Given the description of an element on the screen output the (x, y) to click on. 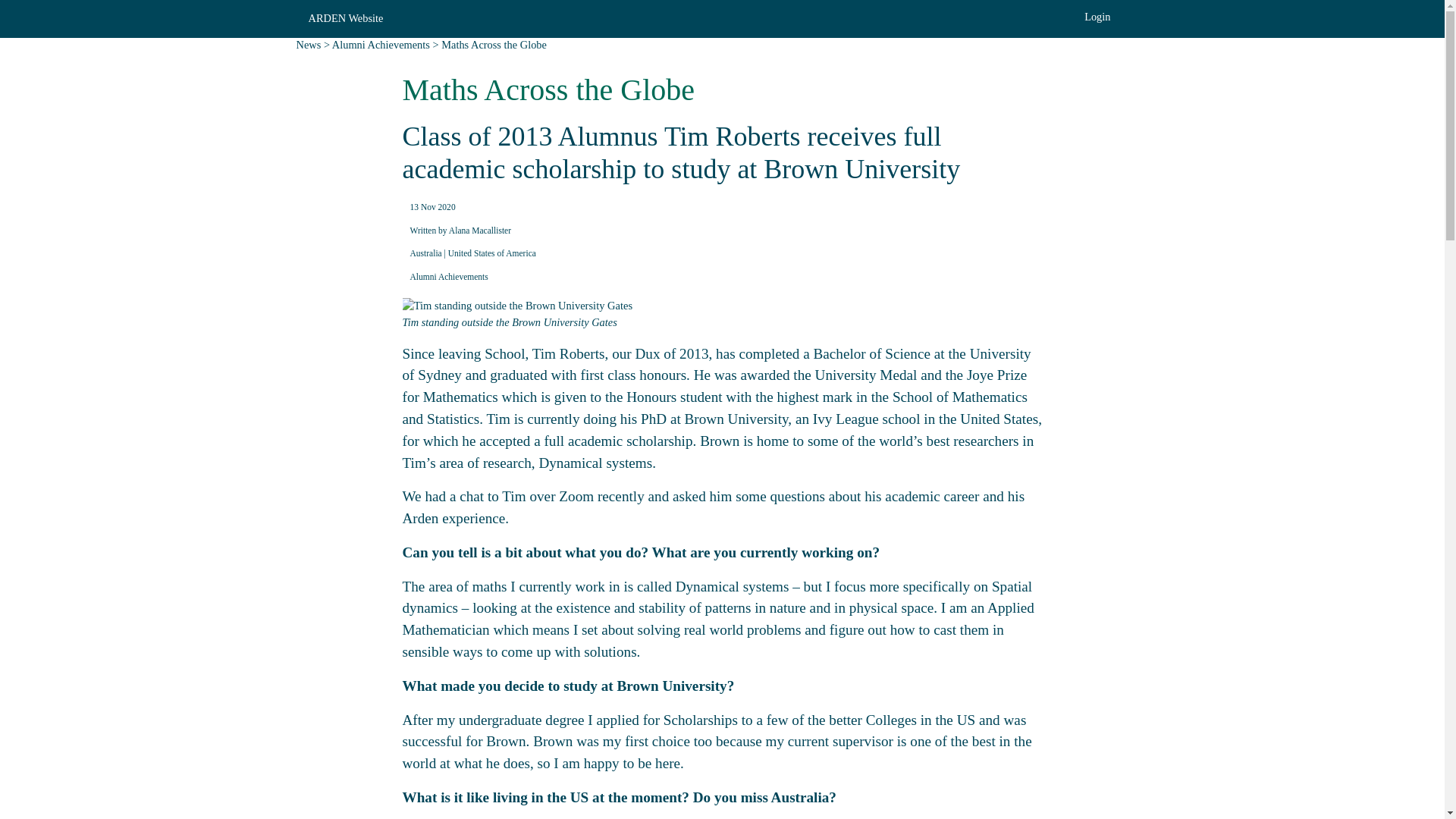
Photos (687, 15)
Events (559, 15)
Alumni Achievements (380, 44)
ARDEN Website (344, 18)
Business Directory (844, 15)
Login (1096, 16)
Alana Macallister (479, 230)
Network (1008, 15)
Alumni Achievements (448, 276)
News (307, 44)
Home (309, 15)
News (434, 16)
Shop (1136, 15)
